Given the description of an element on the screen output the (x, y) to click on. 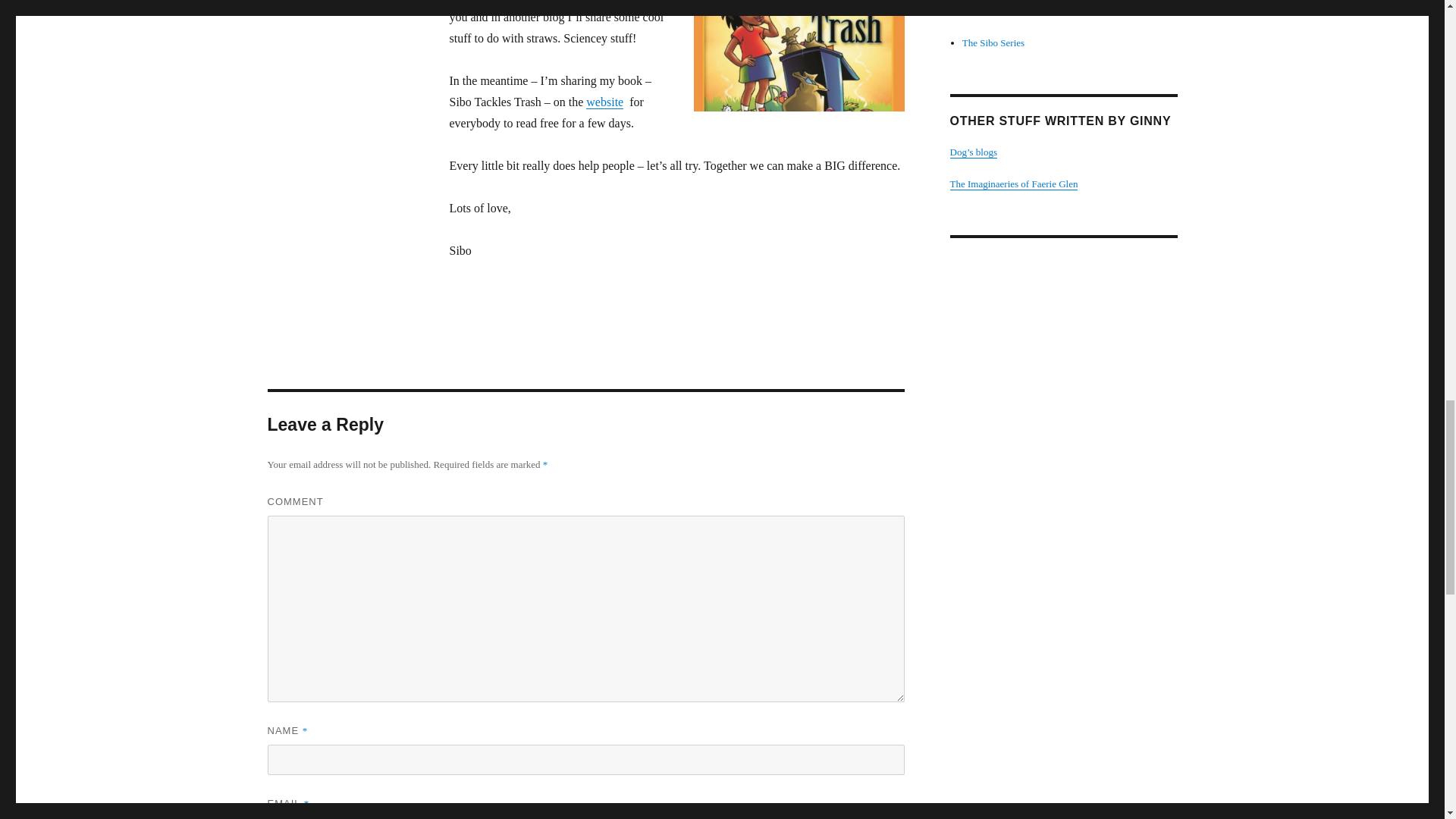
website (604, 101)
